Given the description of an element on the screen output the (x, y) to click on. 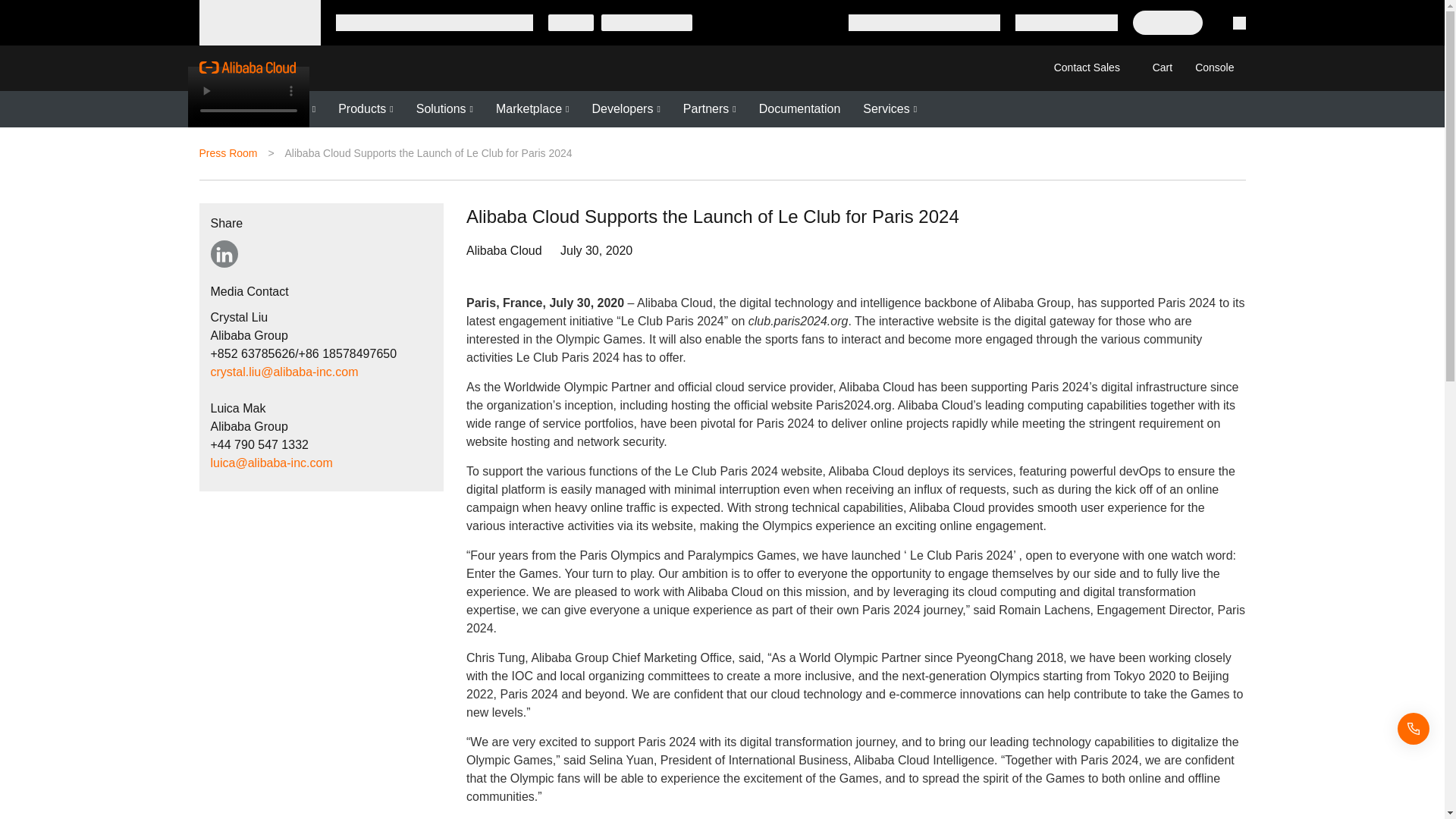
Services (890, 108)
Partners (709, 108)
Marketplace (532, 108)
Console (1213, 67)
Pricing (292, 108)
Solutions (444, 108)
Why Us (222, 108)
Alibaba Cloud (246, 67)
Documentation (799, 108)
Products (365, 108)
Developers (625, 108)
Contact Sales (1086, 67)
  Cart (1159, 67)
